Given the description of an element on the screen output the (x, y) to click on. 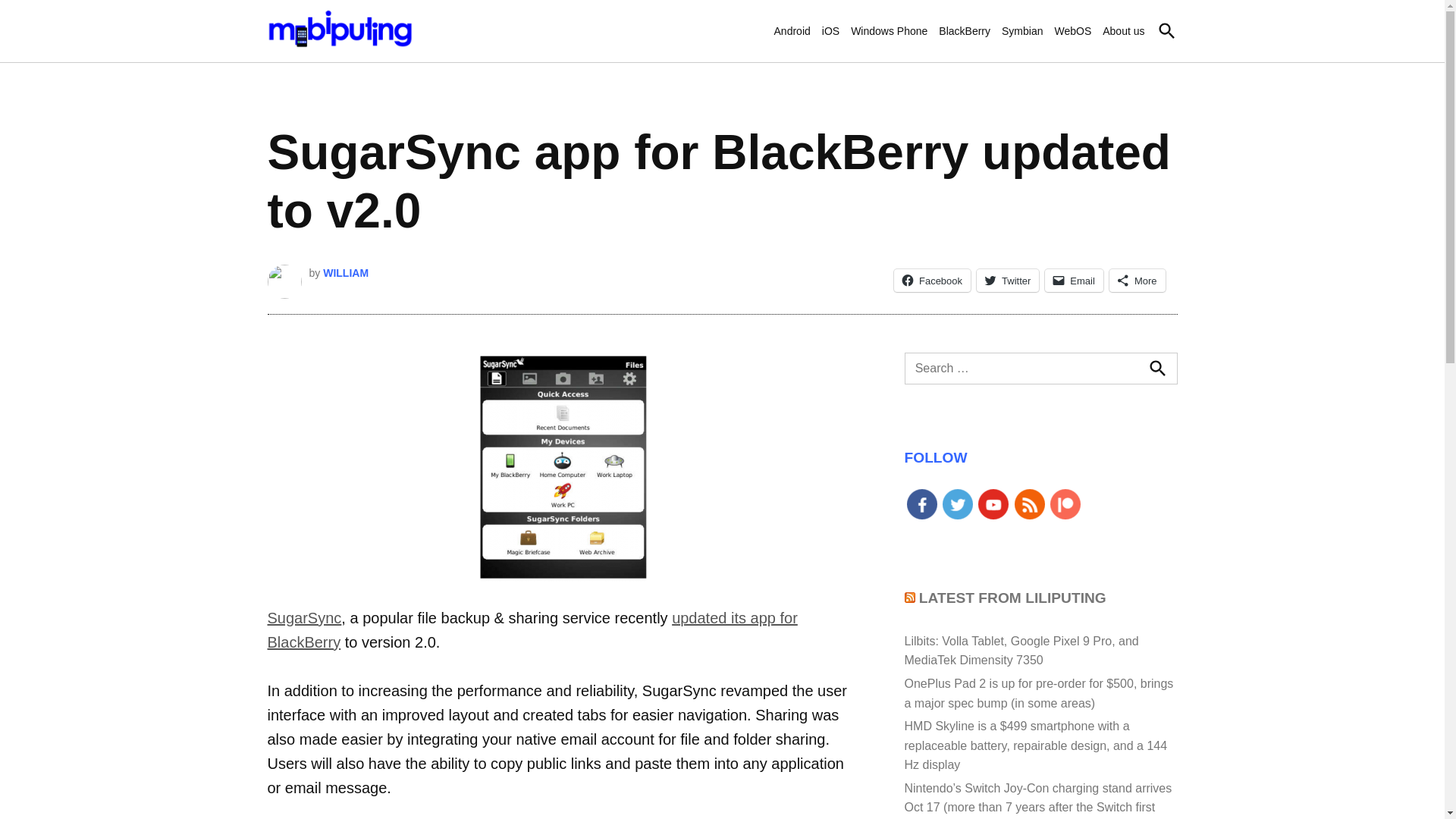
Email (1074, 280)
mobiputing (477, 41)
Facebook (932, 280)
Click to email a link to a friend (1074, 280)
More (1137, 280)
updated its app for BlackBerry (531, 629)
WILLIAM (345, 272)
About us (1123, 30)
BlackBerry (964, 30)
Android (792, 30)
Twitter (1007, 280)
WebOS (1072, 30)
Click to share on Facebook (932, 280)
Symbian (1021, 30)
SugarSync (303, 617)
